Given the description of an element on the screen output the (x, y) to click on. 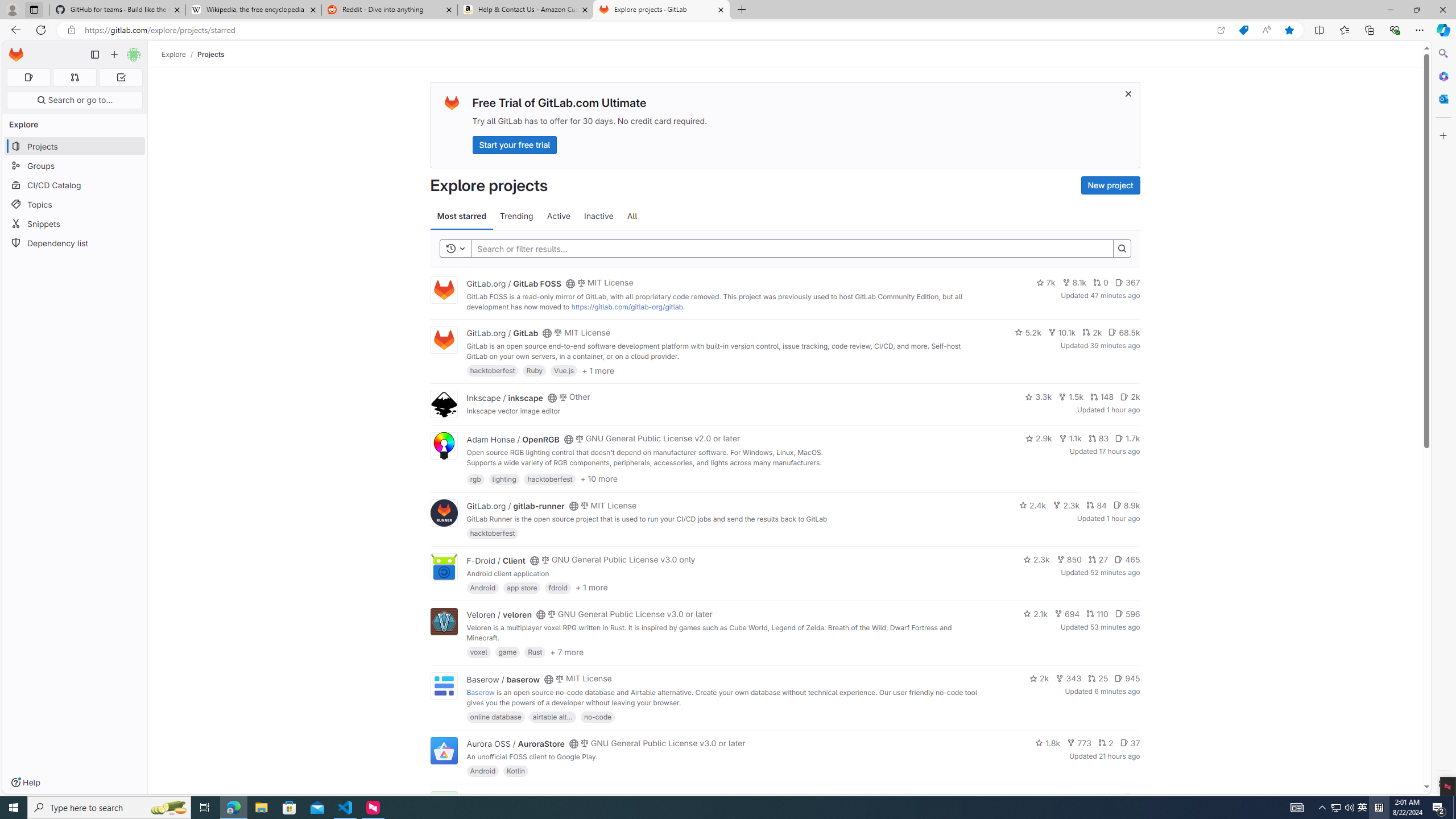
7k (1045, 282)
Vue.js (563, 370)
Most starred (461, 216)
Groups (74, 165)
Primary navigation sidebar (94, 54)
Rust (535, 651)
Edouard Klein / falsisign (512, 797)
3.3k (1038, 396)
Dependency list (74, 242)
0 (1100, 282)
850 (1068, 559)
